Given the description of an element on the screen output the (x, y) to click on. 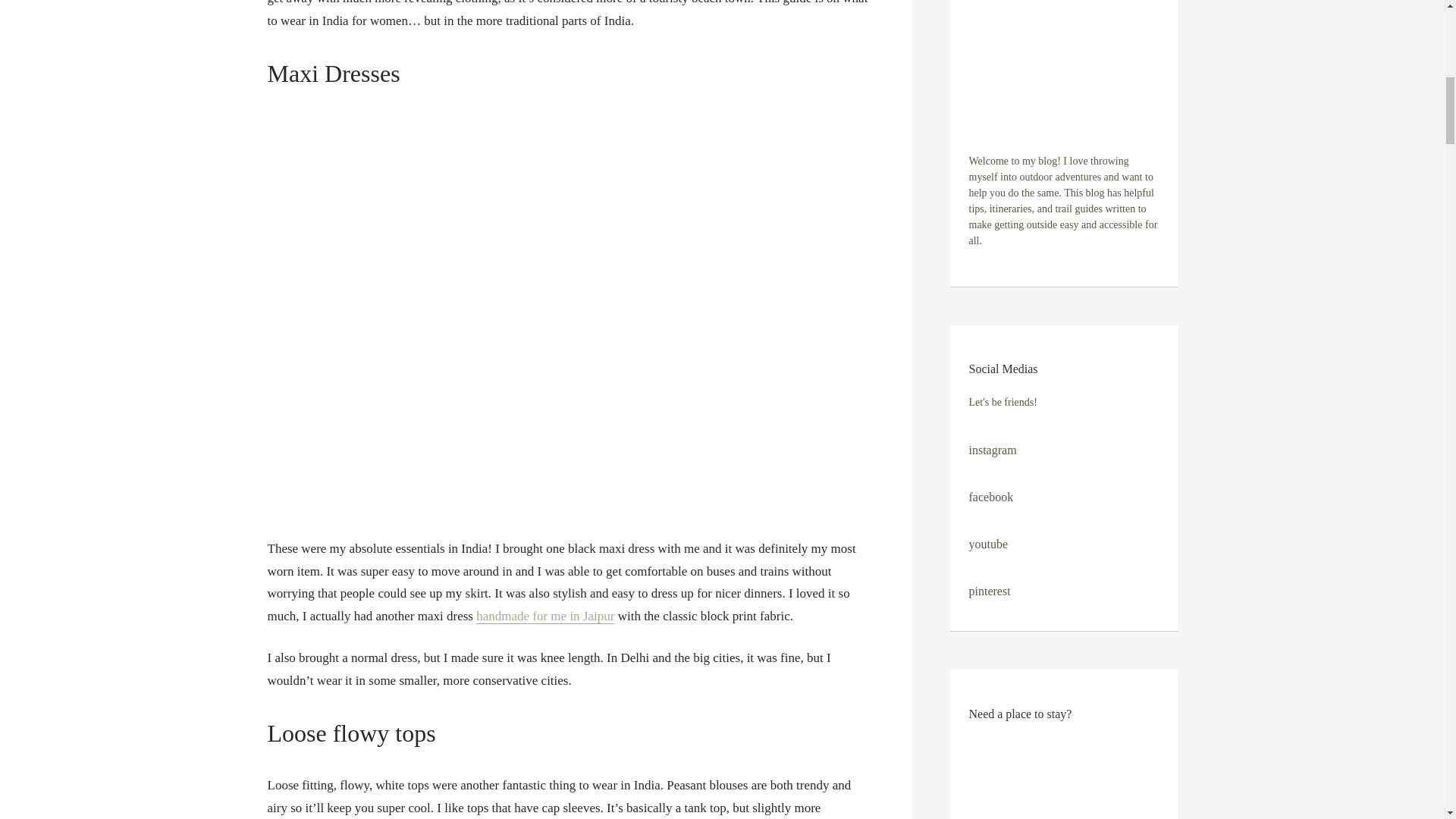
YouTube (989, 543)
Pinterest (989, 590)
Facebook (991, 496)
Instagram (992, 449)
